Given the description of an element on the screen output the (x, y) to click on. 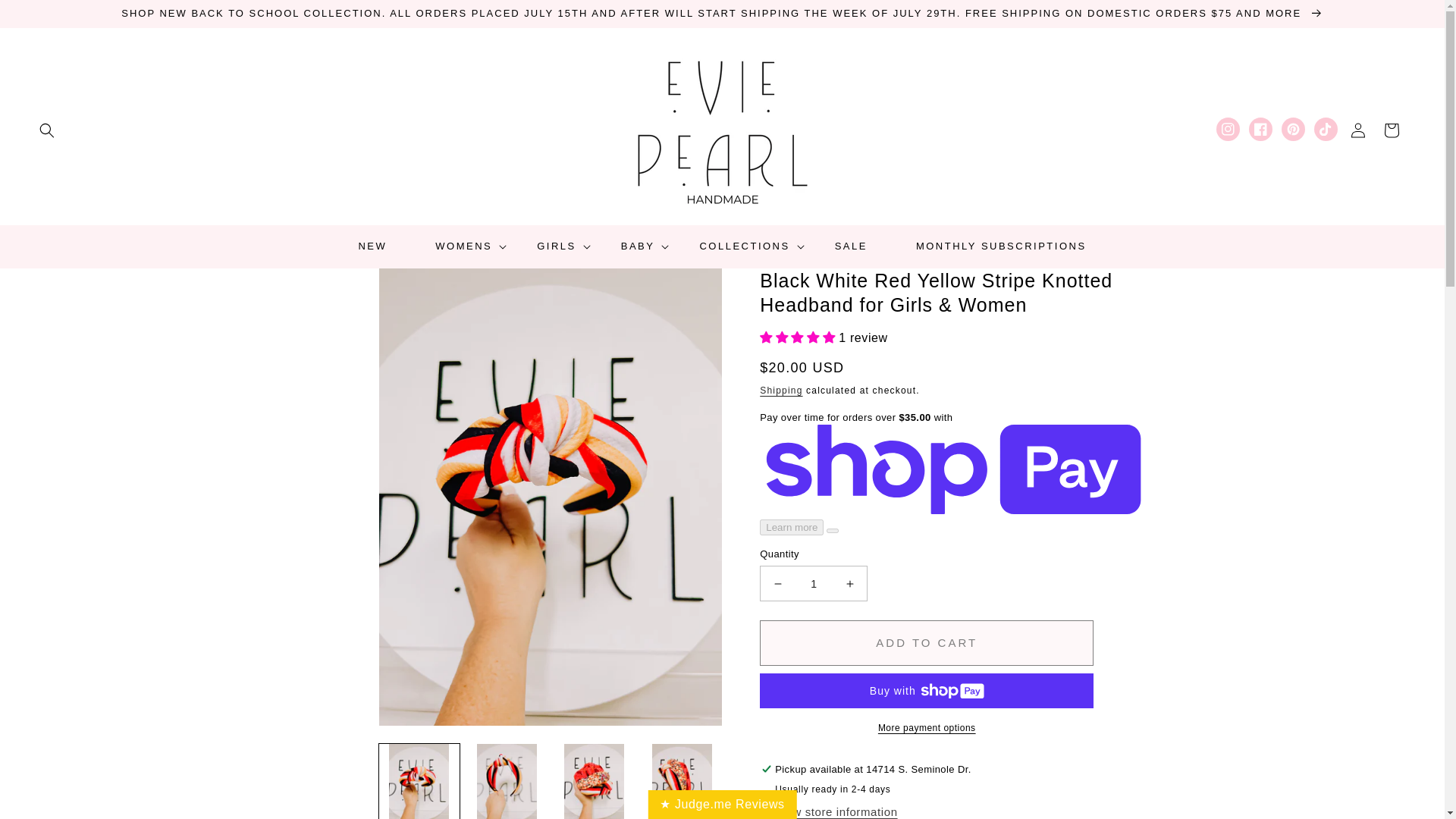
NEW (371, 246)
SKIP TO CONTENT (45, 16)
1 (813, 583)
